Given the description of an element on the screen output the (x, y) to click on. 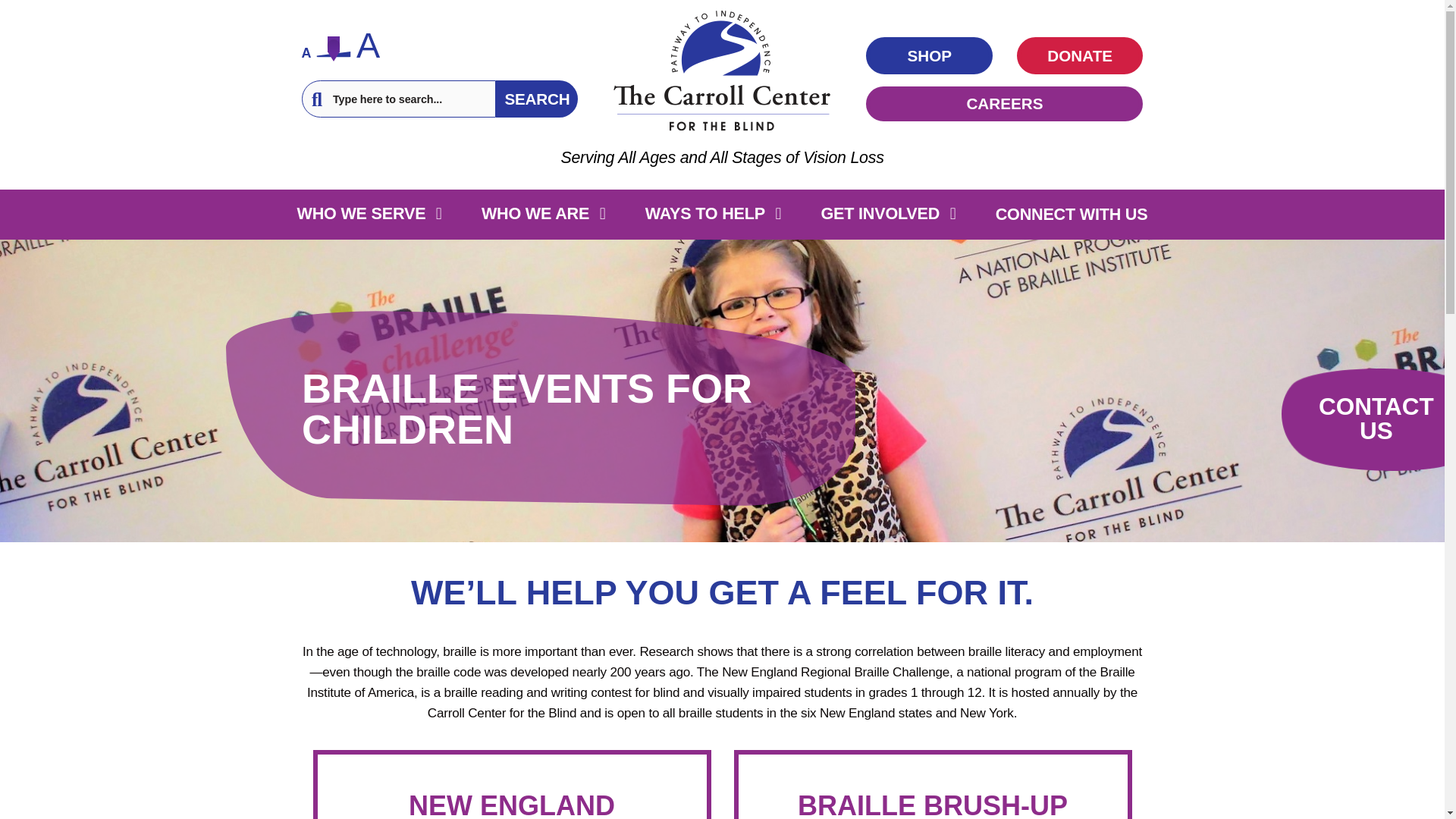
SHOW SUBMENU FOR "WHO WE SERVE" (438, 214)
DONATE (1079, 55)
SEARCH (537, 98)
WHO WE SERVE (360, 213)
SHOP (929, 55)
Skip to content (7, 3)
CAREERS (1004, 103)
